Given the description of an element on the screen output the (x, y) to click on. 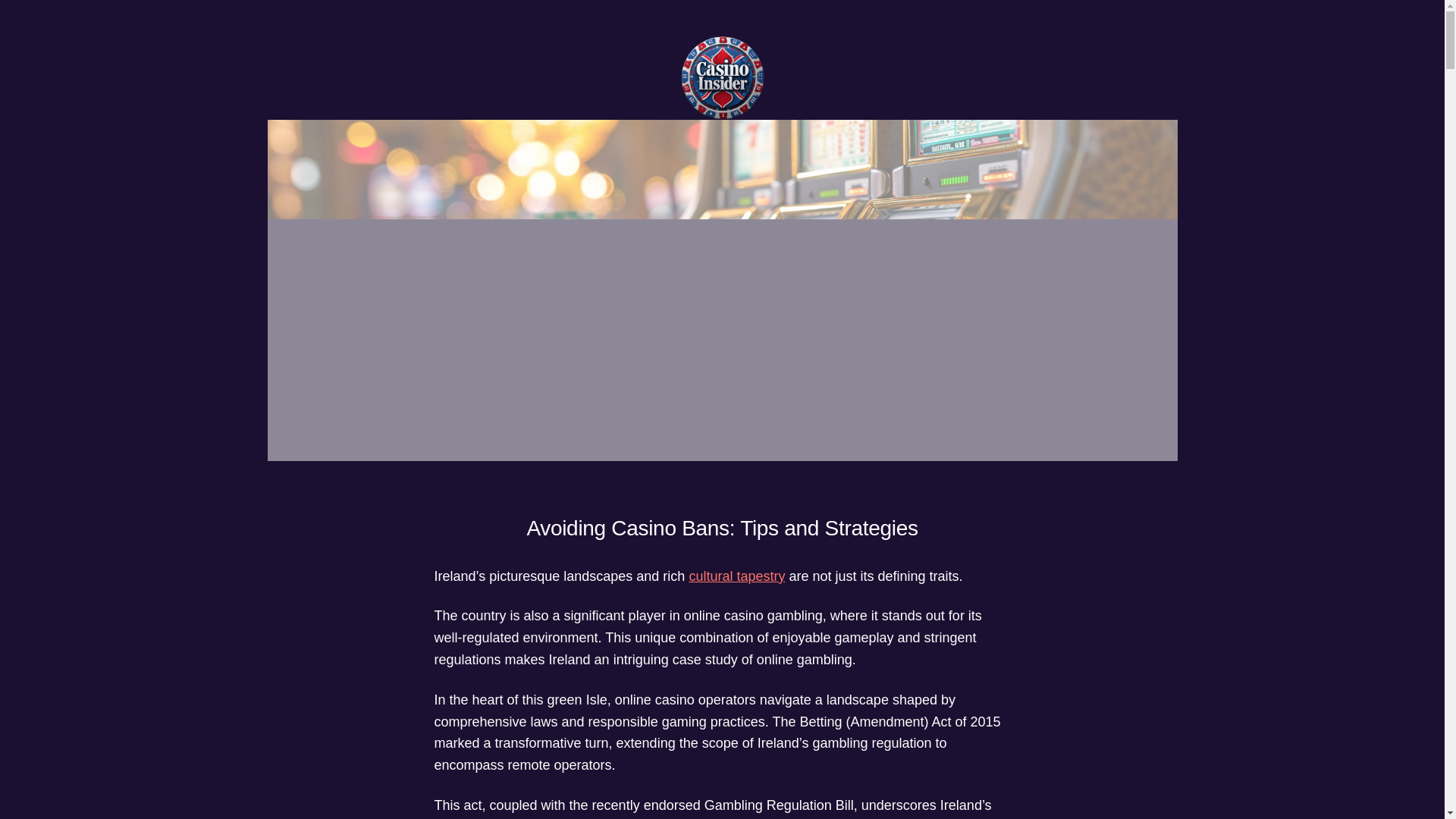
cultural tapestry (736, 575)
